Given the description of an element on the screen output the (x, y) to click on. 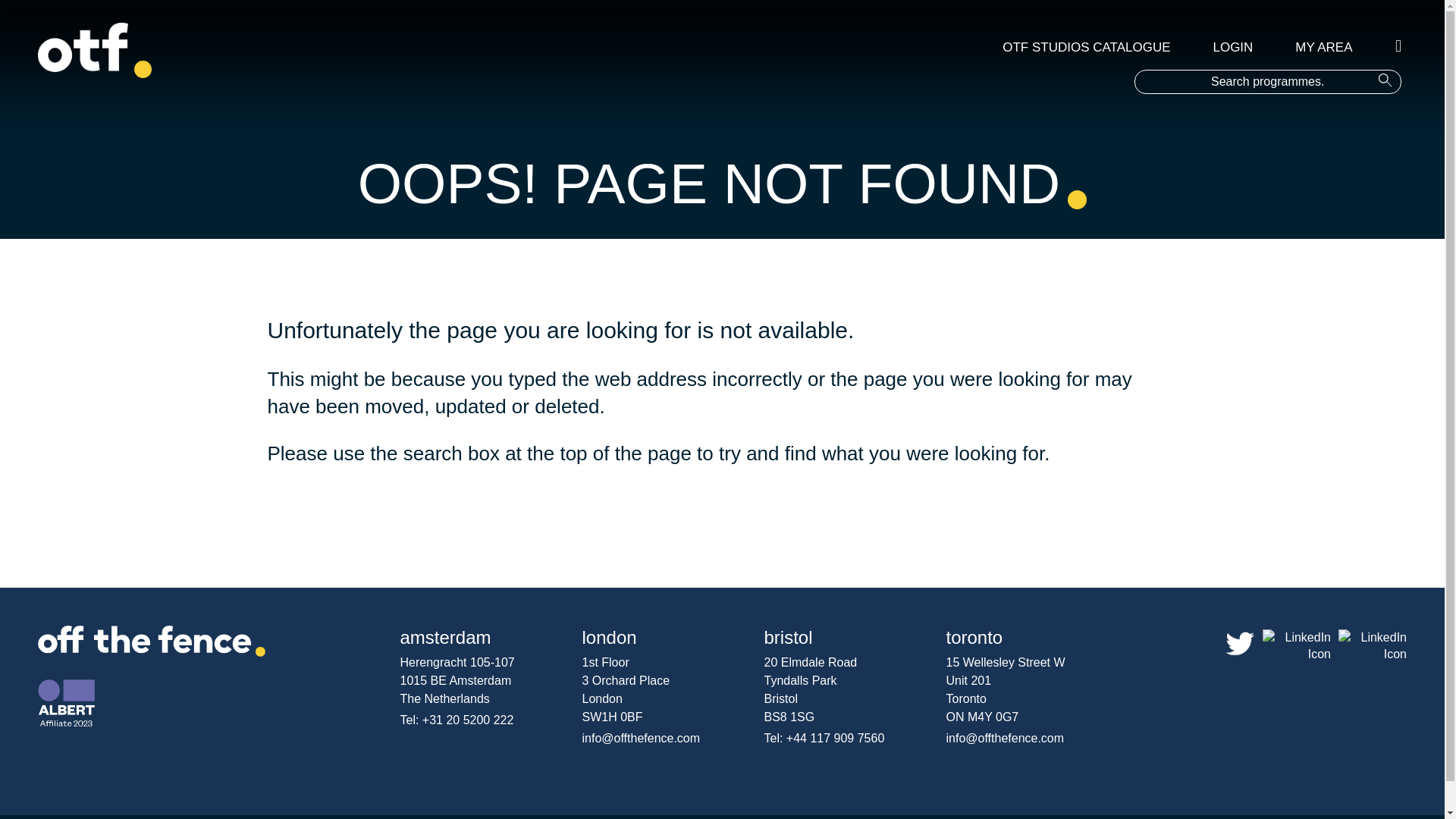
  LOGIN   (1232, 47)
MY AREA (1323, 47)
OTF STUDIOS CATALOGUE (1086, 47)
www.offthefence.com (323, 502)
